Given the description of an element on the screen output the (x, y) to click on. 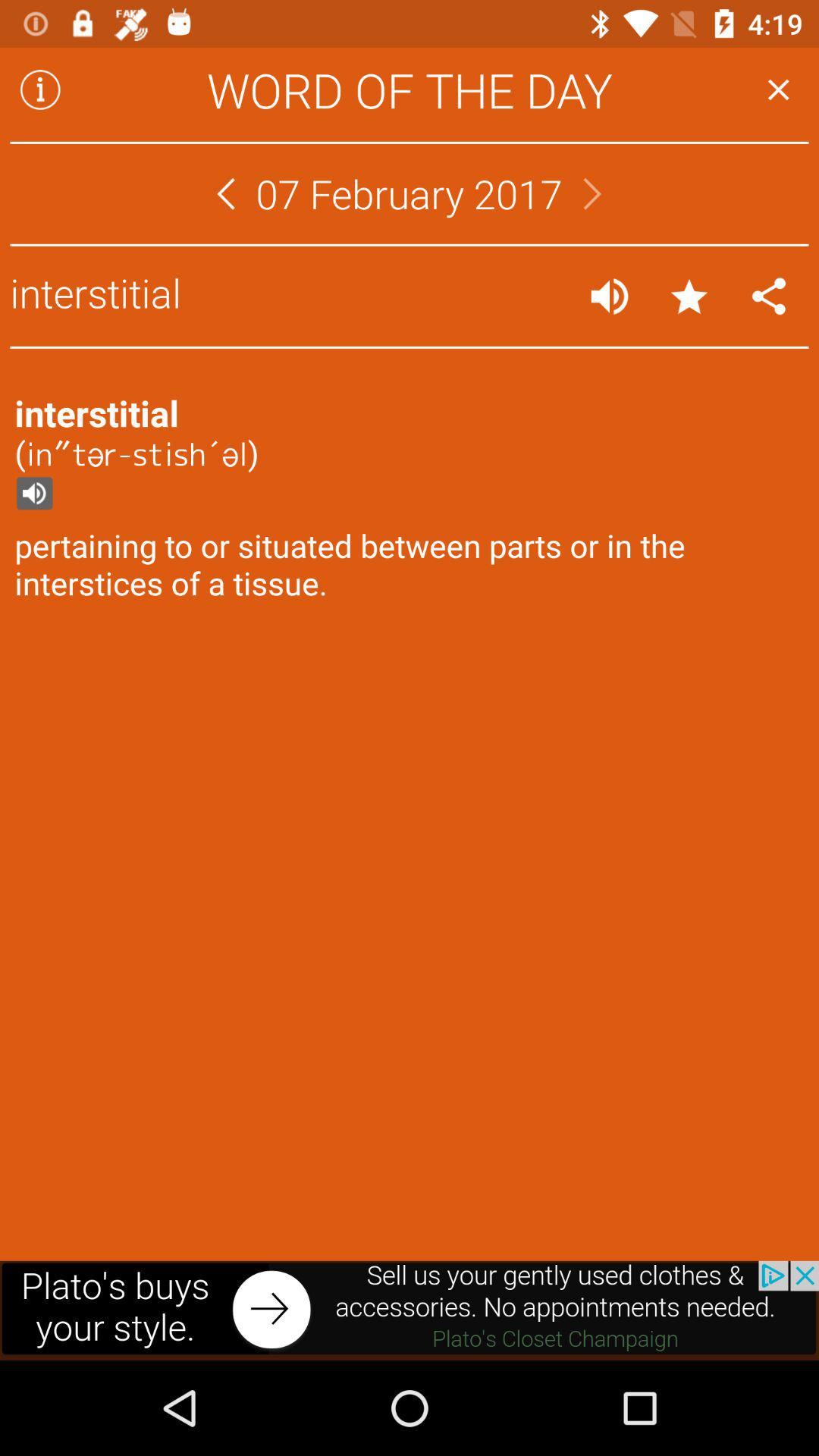
witch autoplay option (609, 296)
